Given the description of an element on the screen output the (x, y) to click on. 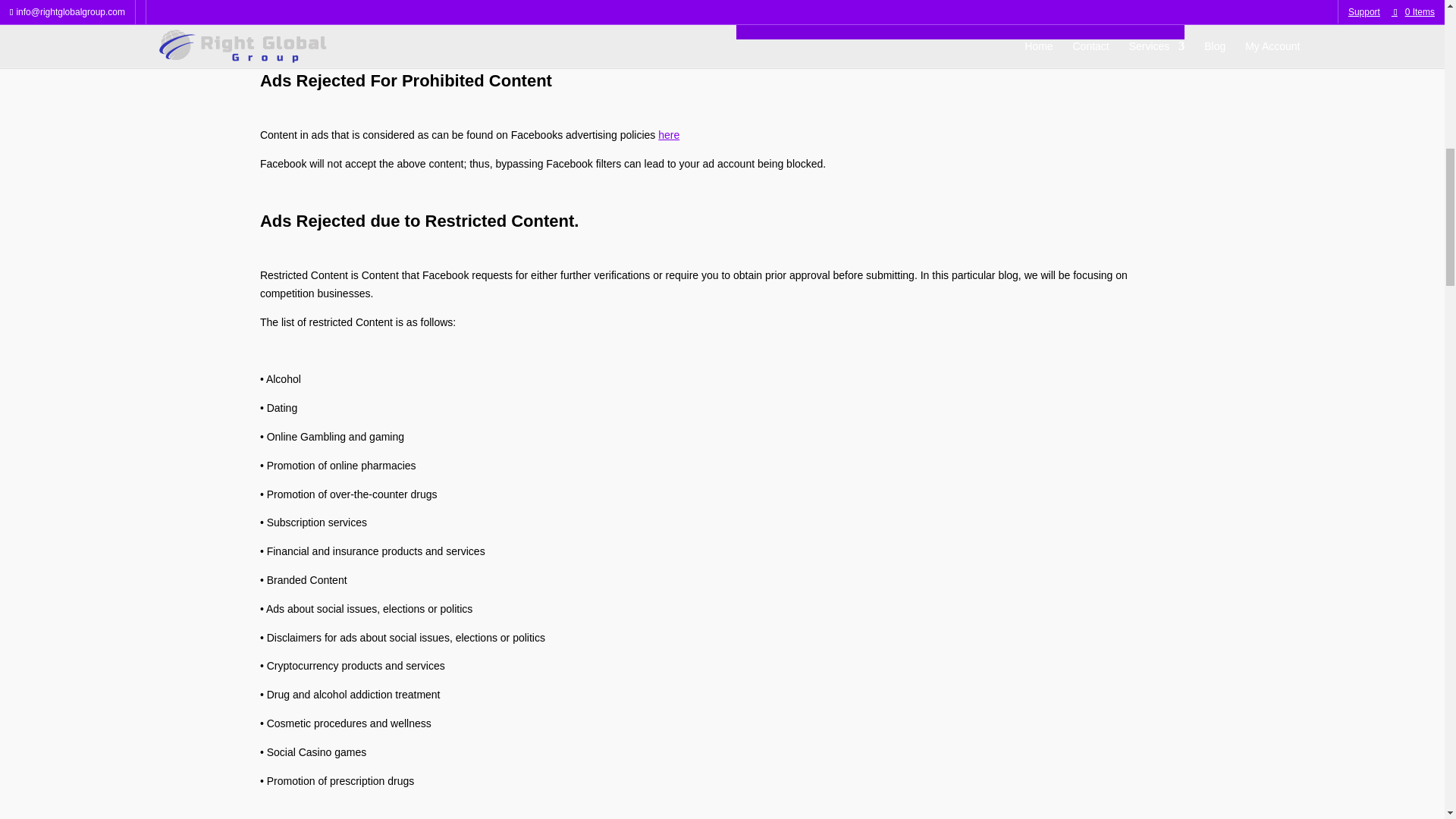
here (668, 134)
